Given the description of an element on the screen output the (x, y) to click on. 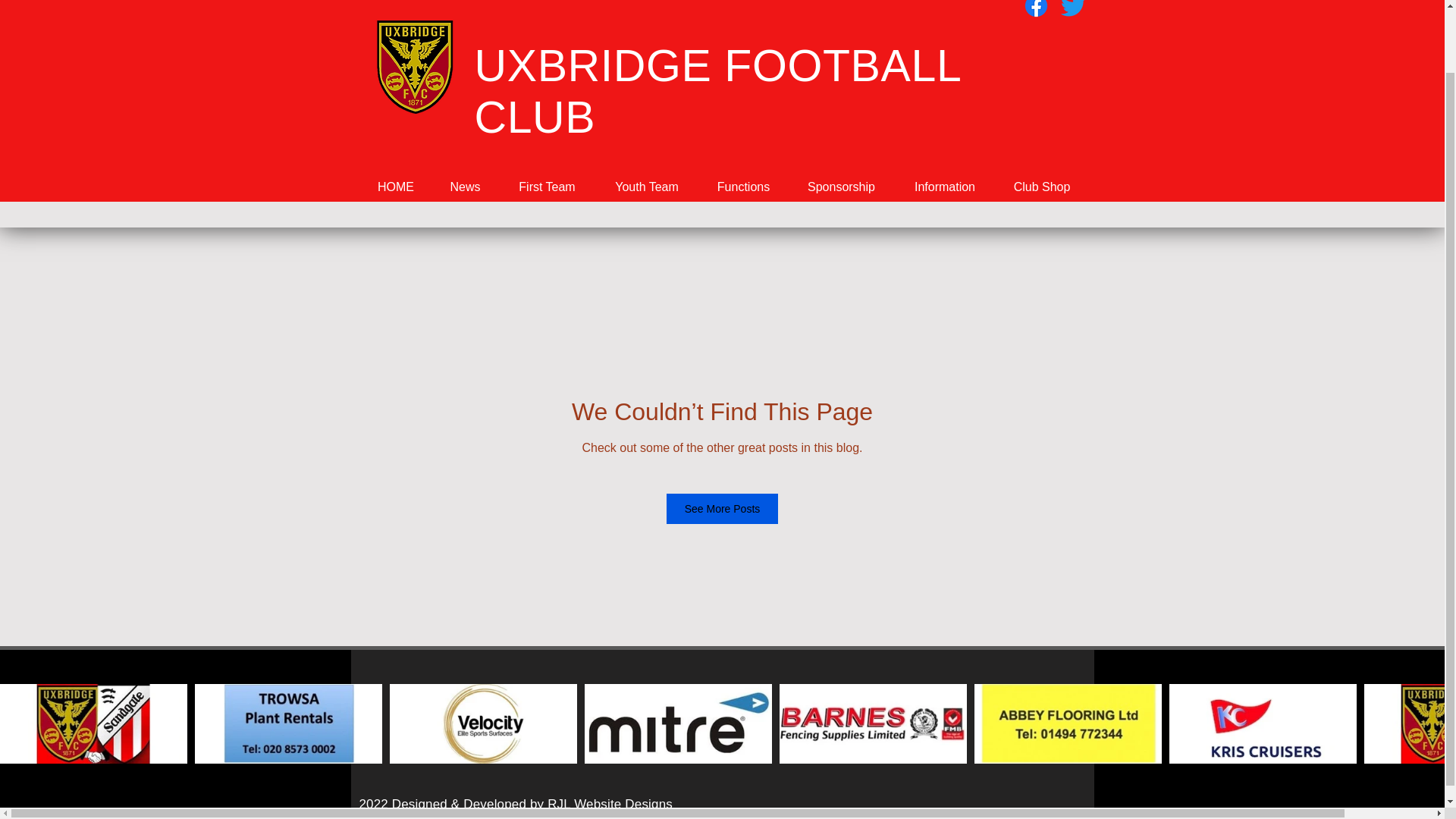
News (463, 186)
See More Posts (722, 508)
Club Shop (1040, 186)
Sponsorship (841, 186)
HOME (395, 186)
RJL Website Designs (609, 803)
Functions (742, 186)
